Given the description of an element on the screen output the (x, y) to click on. 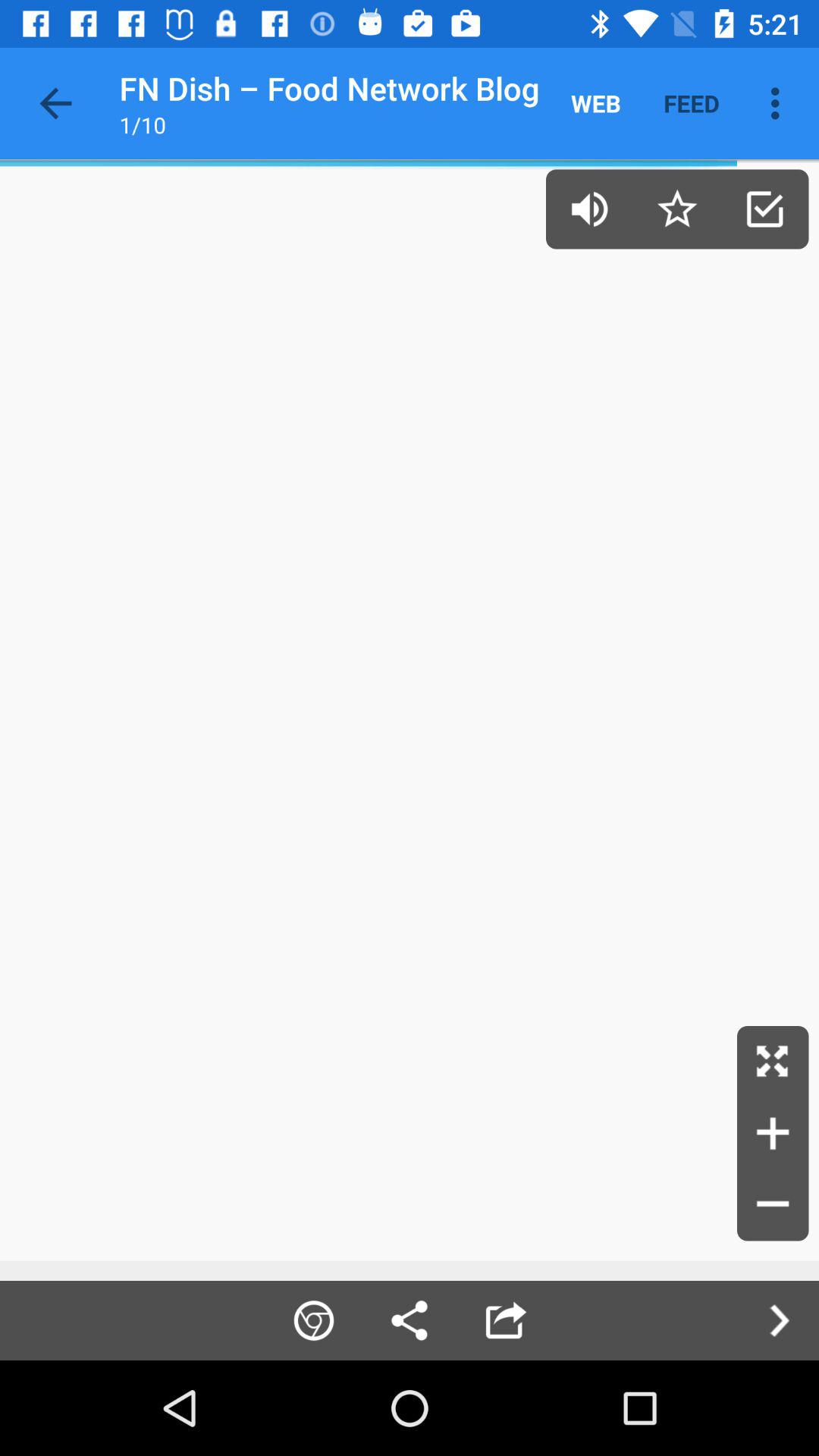
press item next to the web (691, 103)
